Given the description of an element on the screen output the (x, y) to click on. 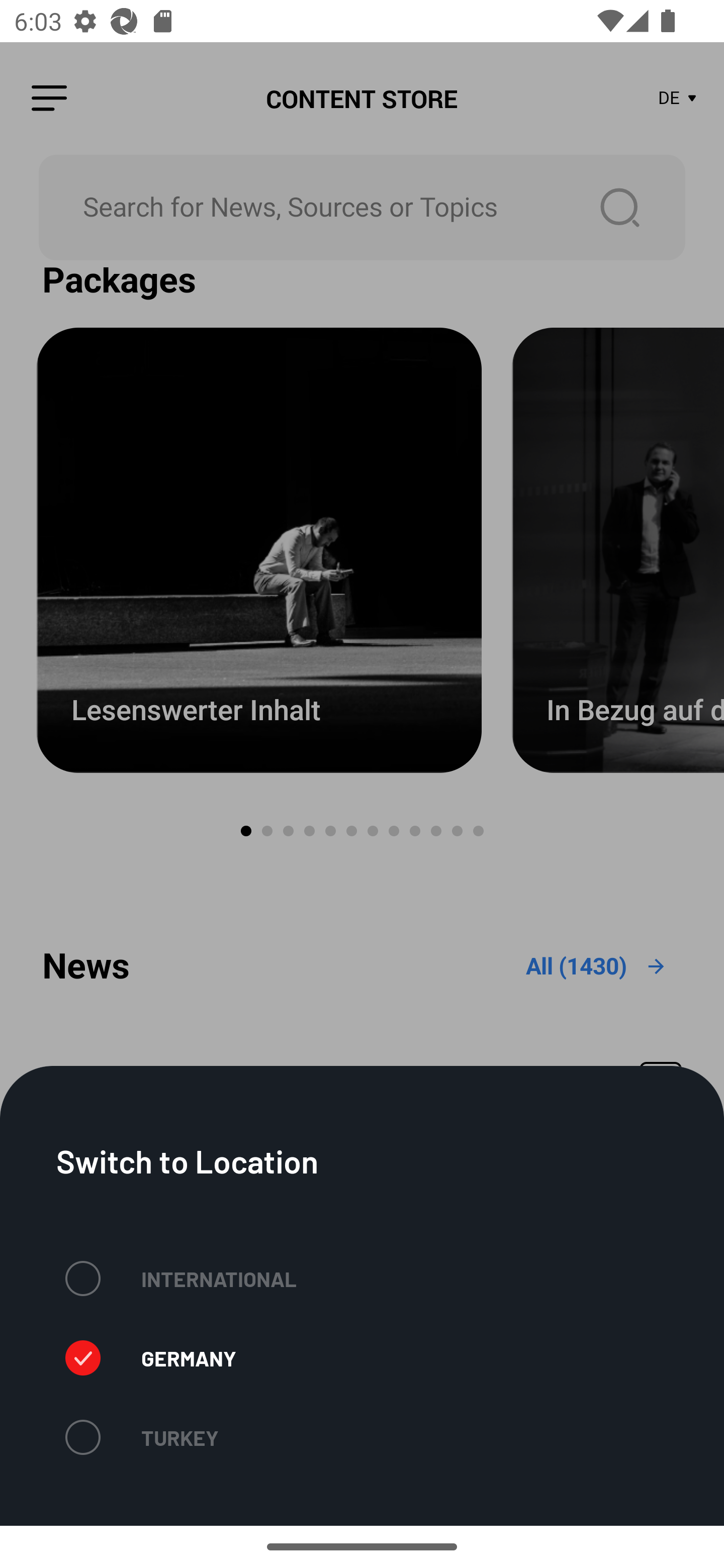
INTERNATIONAL (180, 1277)
Selected News Style GERMANY (150, 1357)
TURKEY (141, 1437)
